Given the description of an element on the screen output the (x, y) to click on. 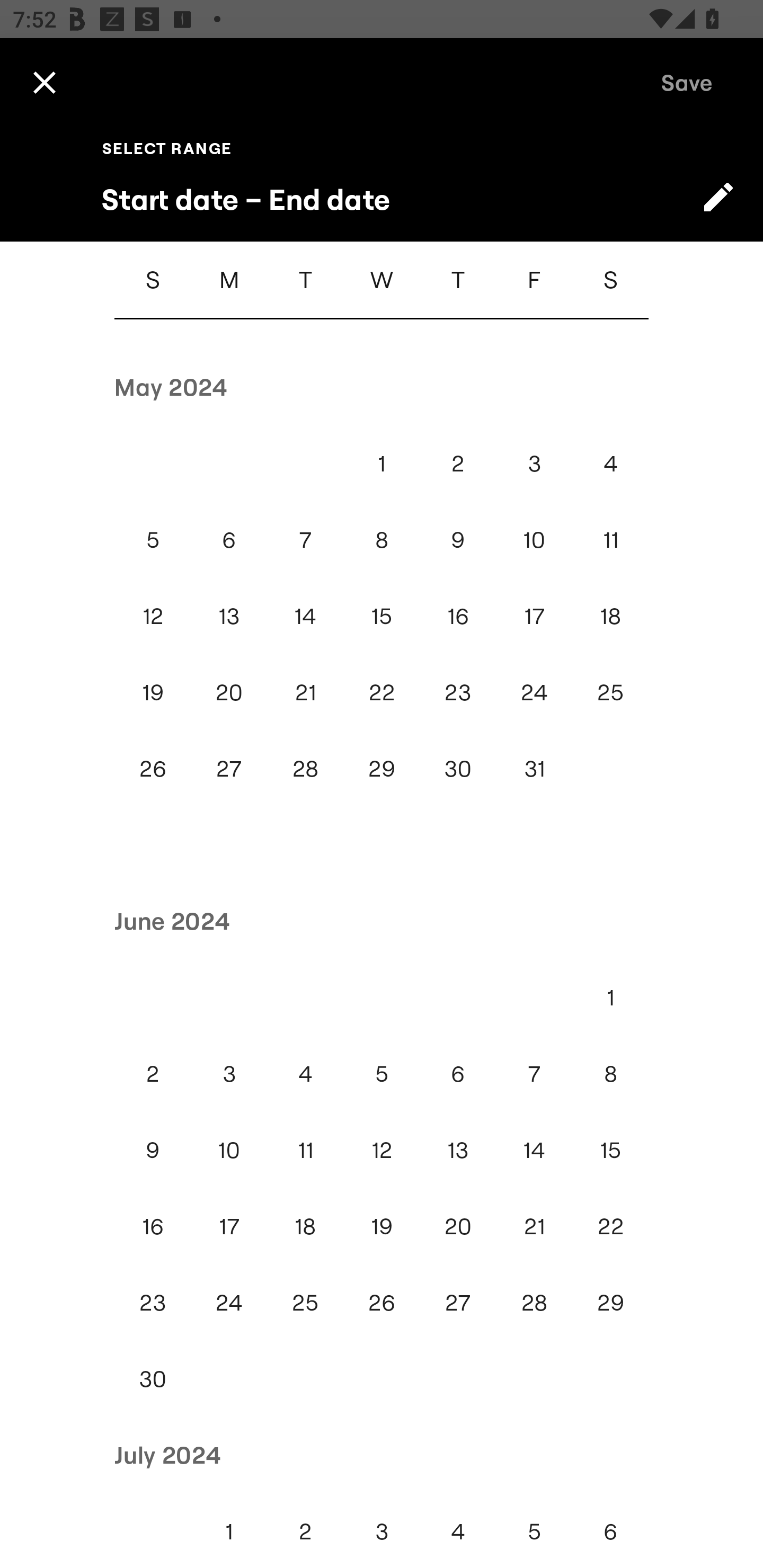
Cancel (44, 81)
Save (686, 81)
Switch to text input mode (718, 196)
1 Wed, May 1 (381, 462)
2 Thu, May 2 (457, 462)
3 Fri, May 3 (533, 462)
4 Sat, May 4 (610, 462)
5 Sun, May 5 (152, 539)
6 Mon, May 6 (228, 539)
7 Tue, May 7 (305, 539)
8 Wed, May 8 (381, 539)
9 Thu, May 9 (457, 539)
10 Fri, May 10 (533, 539)
11 Sat, May 11 (610, 539)
12 Sun, May 12 (152, 615)
13 Mon, May 13 (228, 615)
14 Tue, May 14 (305, 615)
15 Wed, May 15 (381, 615)
16 Thu, May 16 (457, 615)
17 Fri, May 17 (533, 615)
18 Sat, May 18 (610, 615)
19 Sun, May 19 (152, 691)
20 Mon, May 20 (228, 691)
21 Tue, May 21 (305, 691)
22 Wed, May 22 (381, 691)
23 Thu, May 23 (457, 691)
24 Fri, May 24 (533, 691)
25 Sat, May 25 (610, 691)
26 Sun, May 26 (152, 768)
27 Mon, May 27 (228, 768)
28 Tue, May 28 (305, 768)
29 Wed, May 29 (381, 768)
30 Thu, May 30 (457, 768)
31 Fri, May 31 (533, 768)
1 Sat, Jun 1 (610, 996)
2 Sun, Jun 2 (152, 1072)
3 Mon, Jun 3 (228, 1072)
4 Tue, Jun 4 (305, 1072)
5 Wed, Jun 5 (381, 1072)
6 Thu, Jun 6 (457, 1072)
7 Fri, Jun 7 (533, 1072)
8 Sat, Jun 8 (610, 1072)
9 Sun, Jun 9 (152, 1149)
10 Mon, Jun 10 (228, 1149)
11 Tue, Jun 11 (305, 1149)
12 Wed, Jun 12 (381, 1149)
13 Thu, Jun 13 (457, 1149)
14 Fri, Jun 14 (533, 1149)
15 Sat, Jun 15 (610, 1149)
16 Sun, Jun 16 (152, 1225)
17 Mon, Jun 17 (228, 1225)
18 Tue, Jun 18 (305, 1225)
19 Wed, Jun 19 (381, 1225)
20 Thu, Jun 20 (457, 1225)
21 Fri, Jun 21 (533, 1225)
22 Sat, Jun 22 (610, 1225)
23 Sun, Jun 23 (152, 1301)
24 Mon, Jun 24 (228, 1301)
25 Tue, Jun 25 (305, 1301)
26 Wed, Jun 26 (381, 1301)
27 Thu, Jun 27 (457, 1301)
28 Fri, Jun 28 (533, 1301)
29 Sat, Jun 29 (610, 1301)
30 Sun, Jun 30 (152, 1378)
1 Mon, Jul 1 (228, 1530)
2 Tue, Jul 2 (305, 1530)
3 Wed, Jul 3 (381, 1530)
4 Thu, Jul 4 (457, 1530)
5 Fri, Jul 5 (533, 1530)
6 Sat, Jul 6 (610, 1530)
